Given the description of an element on the screen output the (x, y) to click on. 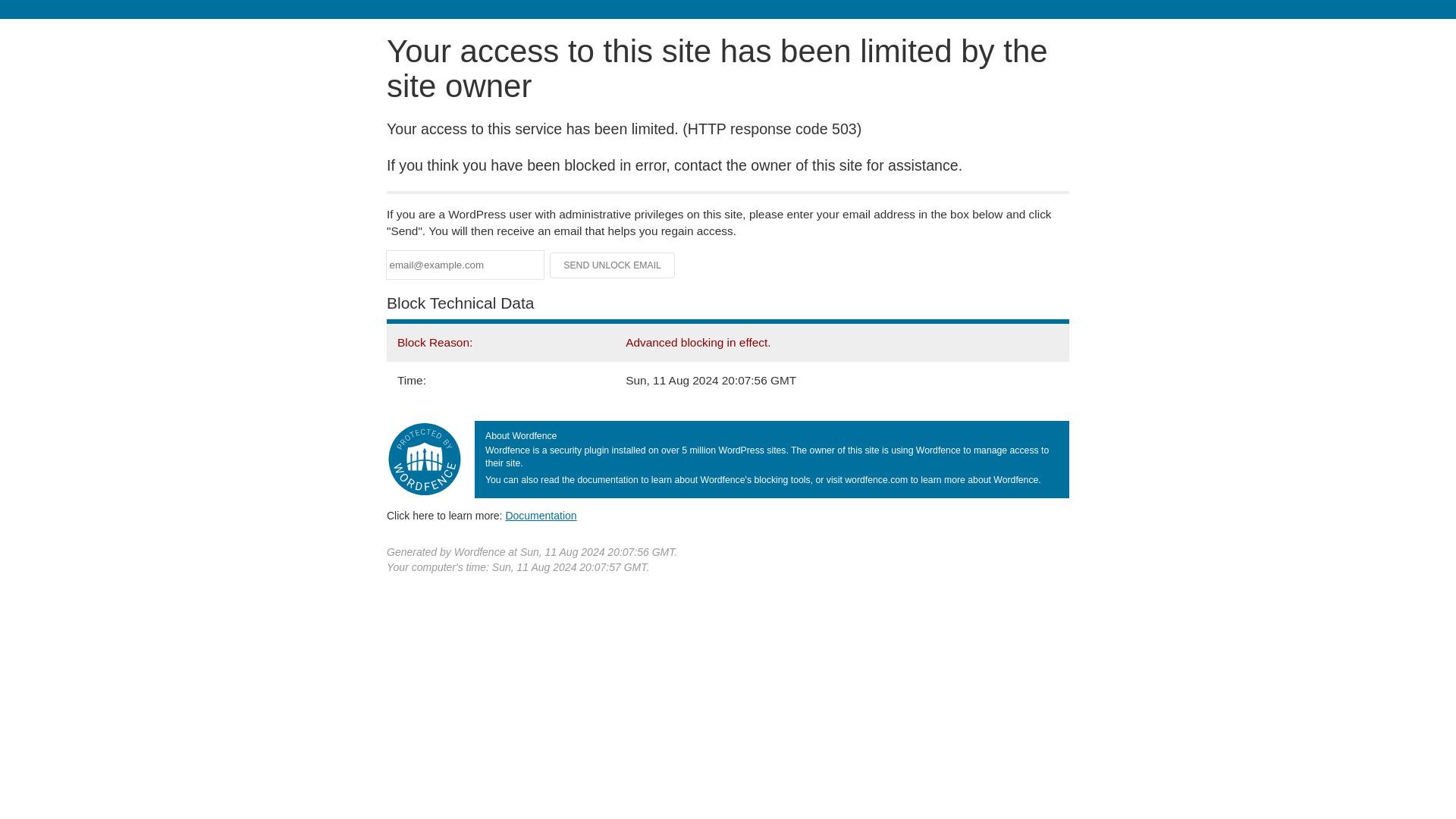
Documentation (540, 515)
Send Unlock Email (612, 265)
Send Unlock Email (612, 265)
